Given the description of an element on the screen output the (x, y) to click on. 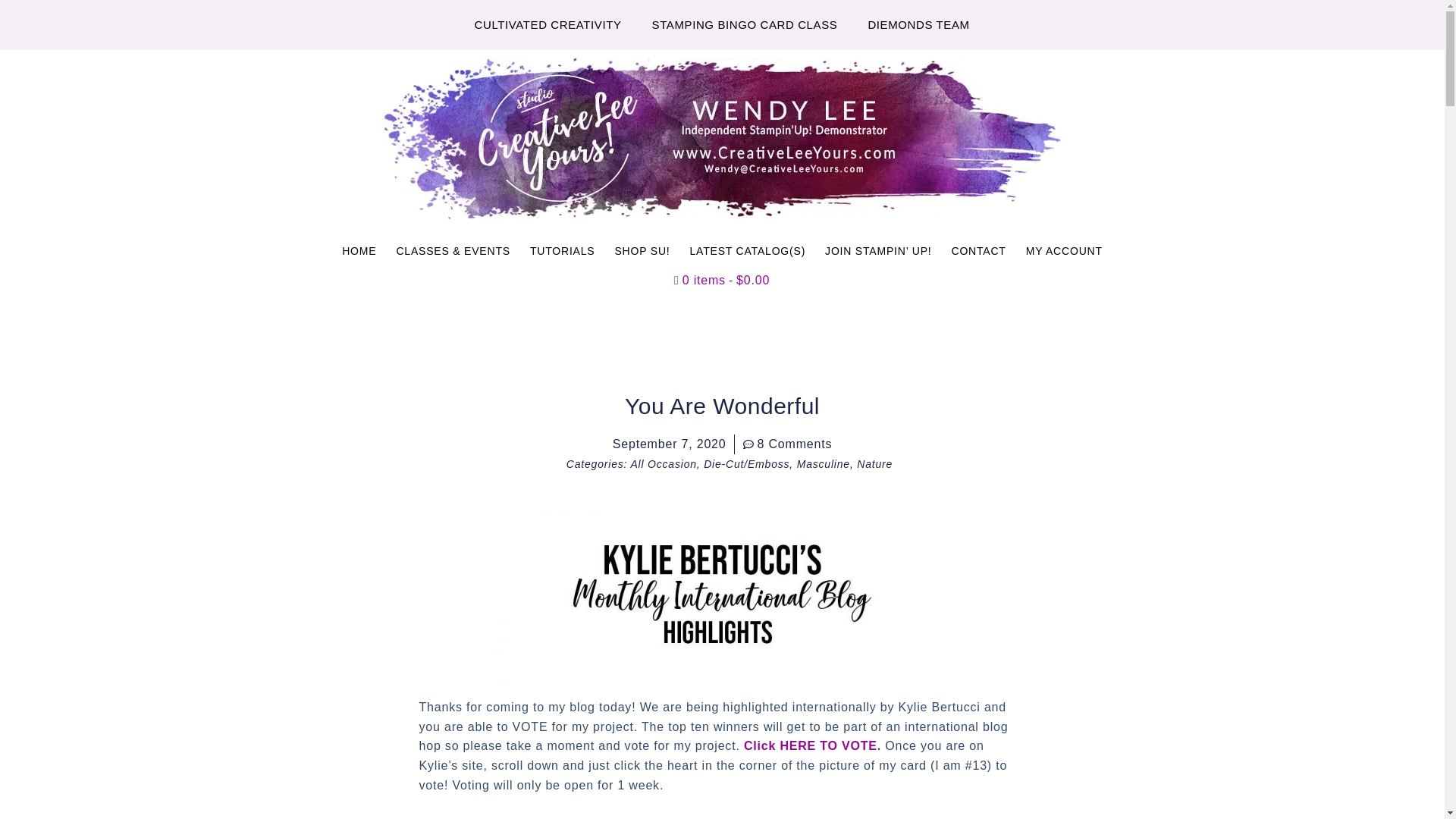
CONTACT (977, 250)
Click HERE TO VOTE (810, 745)
CULTIVATED CREATIVITY (548, 24)
All Occasion (662, 463)
SHOP SU! (641, 250)
Start shopping (721, 280)
STAMPING BINGO CARD CLASS (745, 24)
Nature (874, 463)
September 7, 2020 (669, 444)
HOME (358, 250)
